Given the description of an element on the screen output the (x, y) to click on. 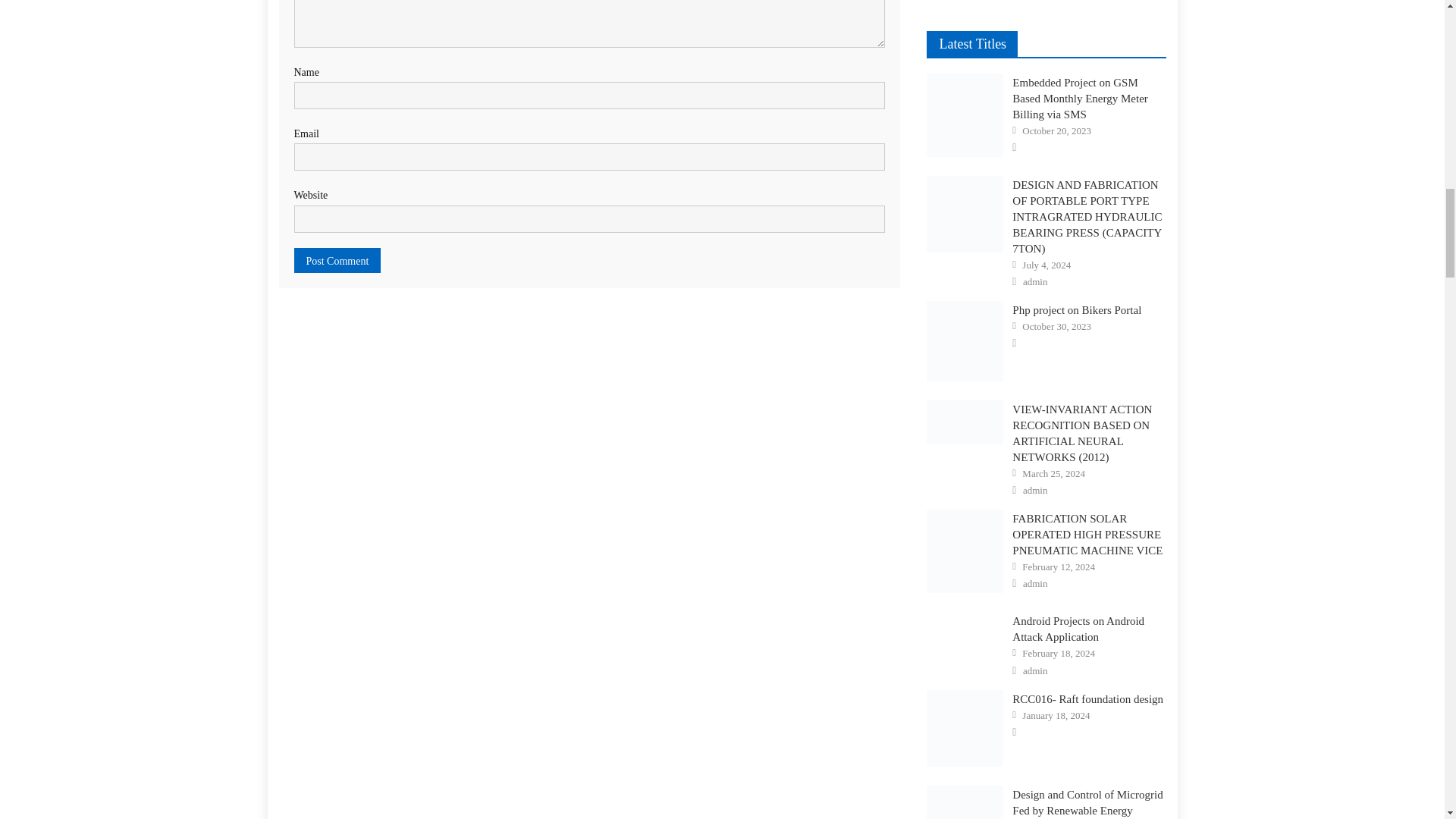
Post Comment (337, 260)
